Given the description of an element on the screen output the (x, y) to click on. 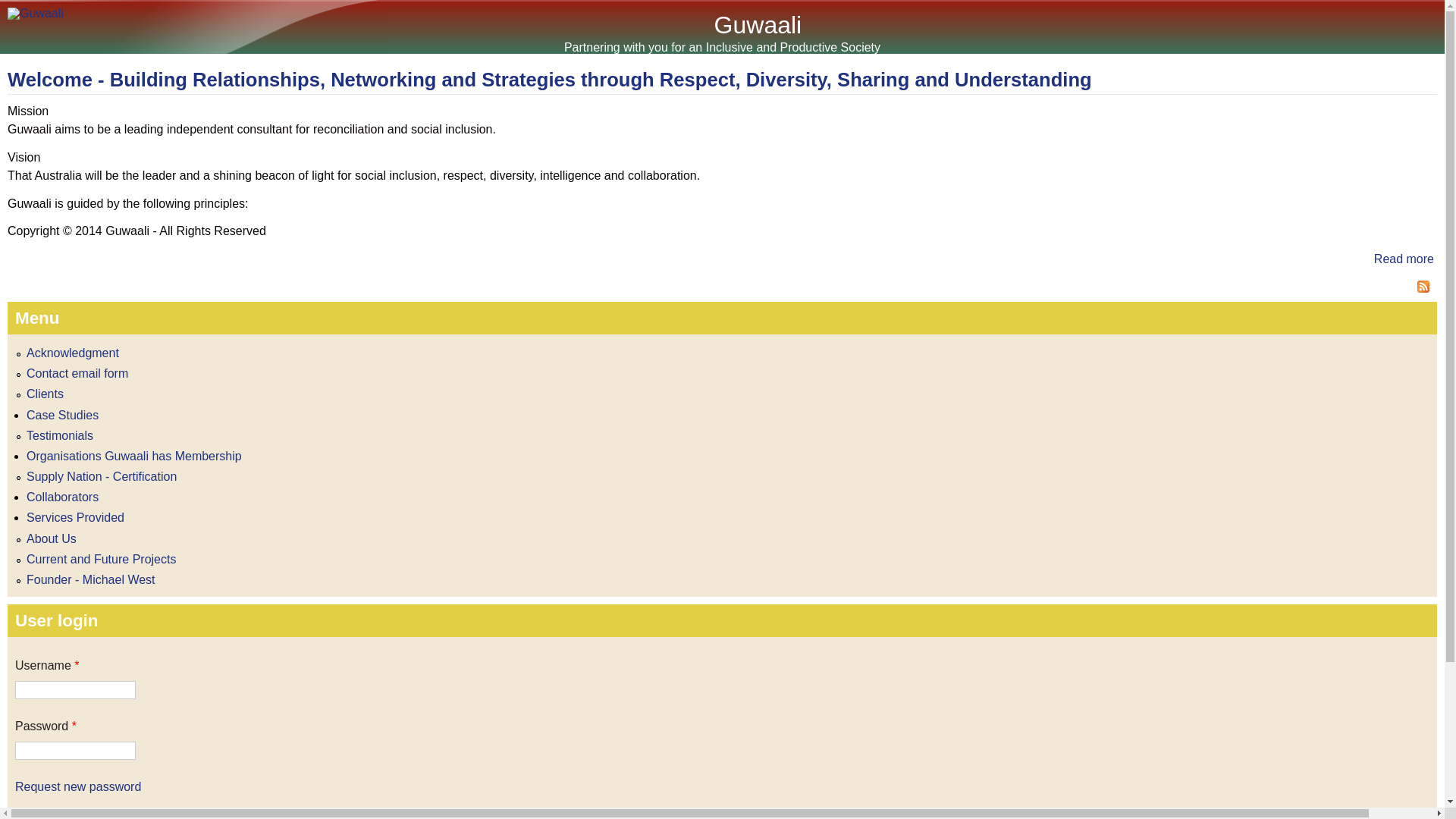
About Us Element type: text (51, 538)
Request new password Element type: text (78, 786)
Guwaali Element type: text (758, 24)
Contact email form Element type: text (77, 373)
Services Provided Element type: text (75, 517)
Current and Future Projects Element type: text (100, 558)
Founder - Michael West Element type: text (90, 579)
Collaborators Element type: text (62, 496)
Skip to main content Element type: text (704, 0)
Testimonials Element type: text (59, 435)
Subscribe to Guwaali RSS Element type: hover (722, 288)
Supply Nation - Certification Element type: text (101, 476)
Case Studies Element type: text (62, 414)
Organisations Guwaali has Membership Element type: text (133, 455)
Clients Element type: text (44, 393)
Acknowledgment Element type: text (72, 352)
